Given the description of an element on the screen output the (x, y) to click on. 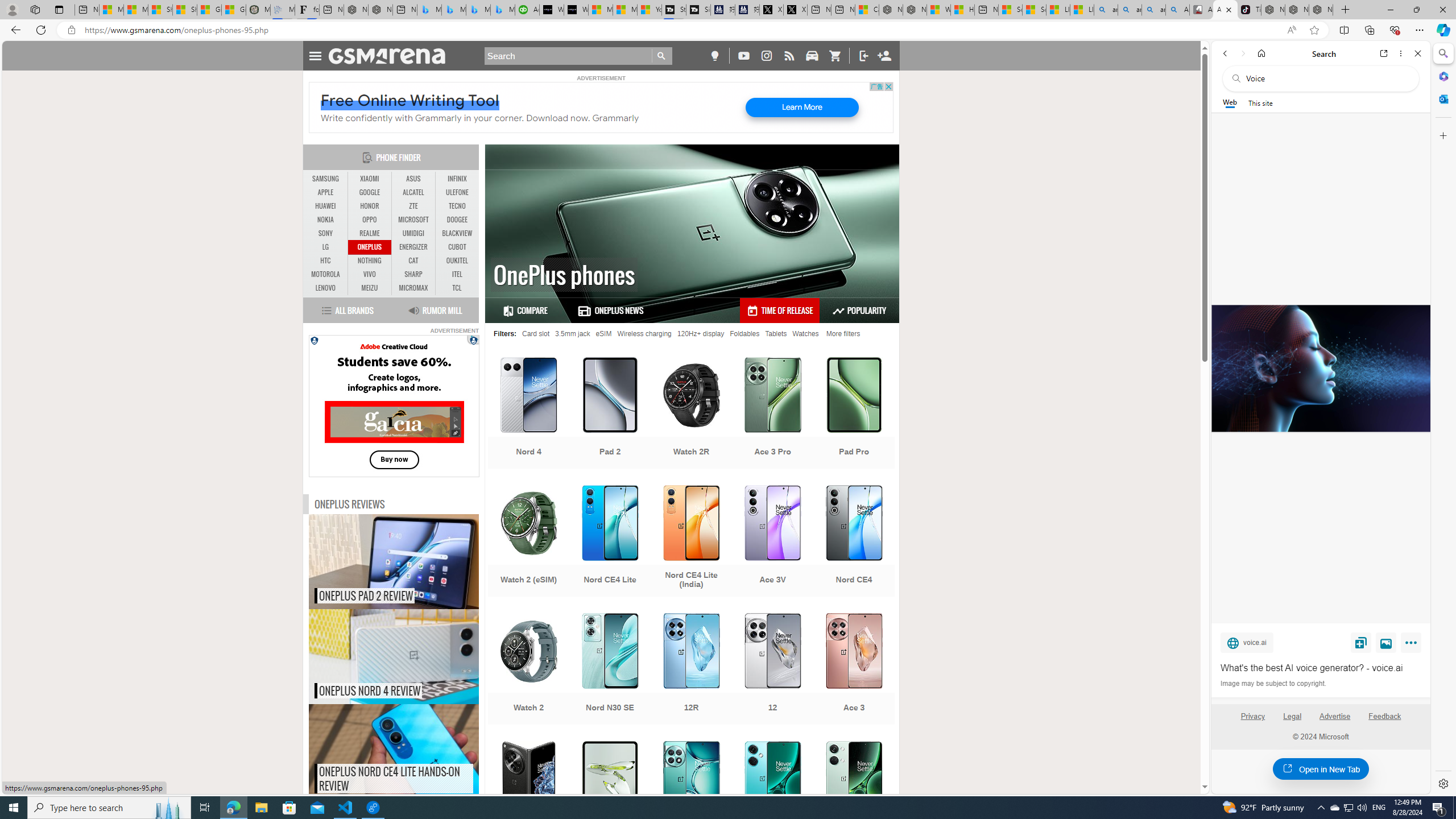
Wireless charging (644, 333)
Watches (805, 333)
ALCATEL (413, 192)
Manatee Mortality Statistics | FWC (258, 9)
SAMSUNG (325, 178)
Forward (1242, 53)
UMIDIGI (413, 233)
ITEL (457, 273)
TCL (457, 287)
XIAOMI (369, 178)
